Given the description of an element on the screen output the (x, y) to click on. 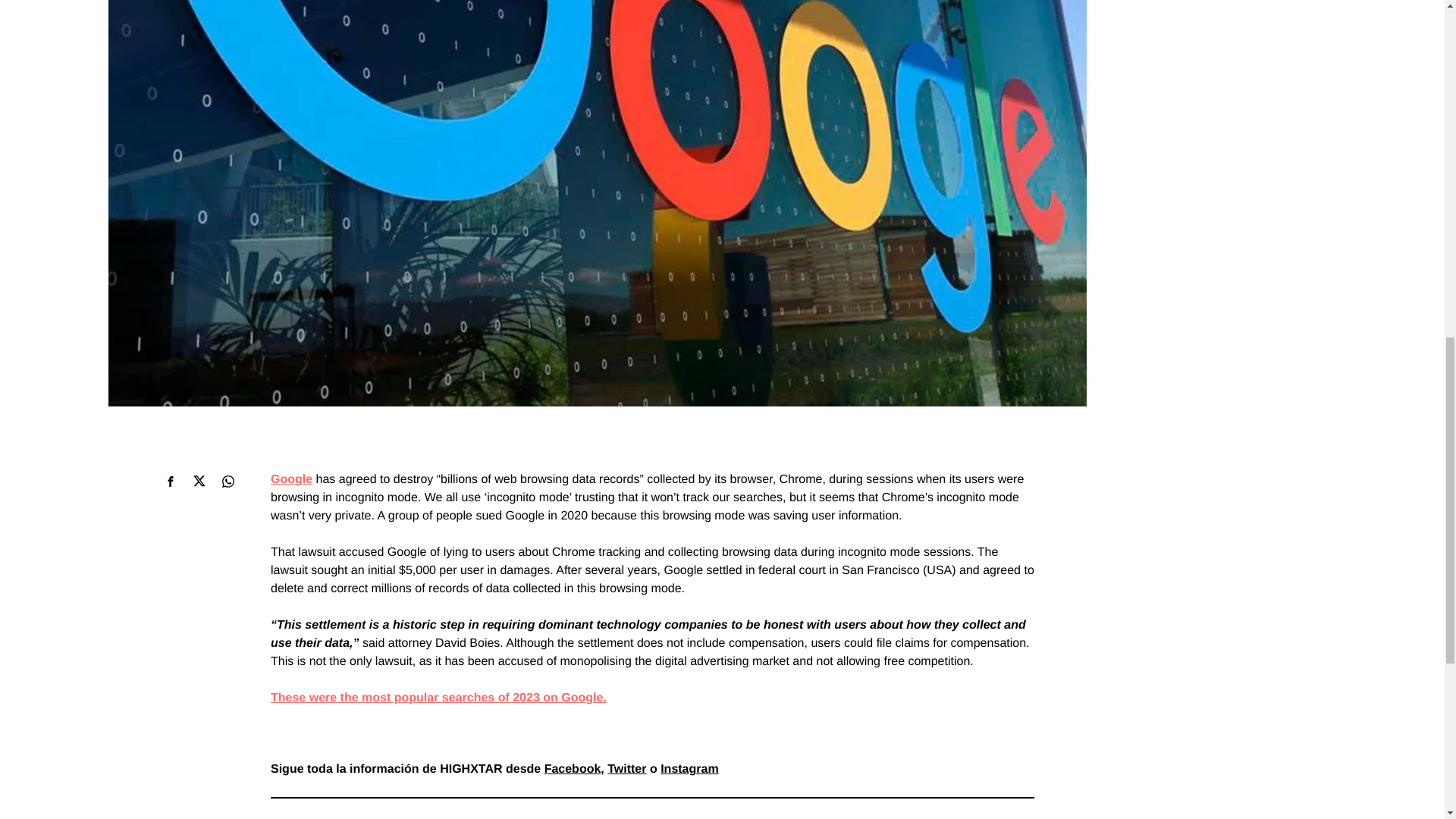
Highxtar Twitter (626, 768)
Highxtar Facebook (572, 768)
Highxtar Instagram (689, 768)
